Given the description of an element on the screen output the (x, y) to click on. 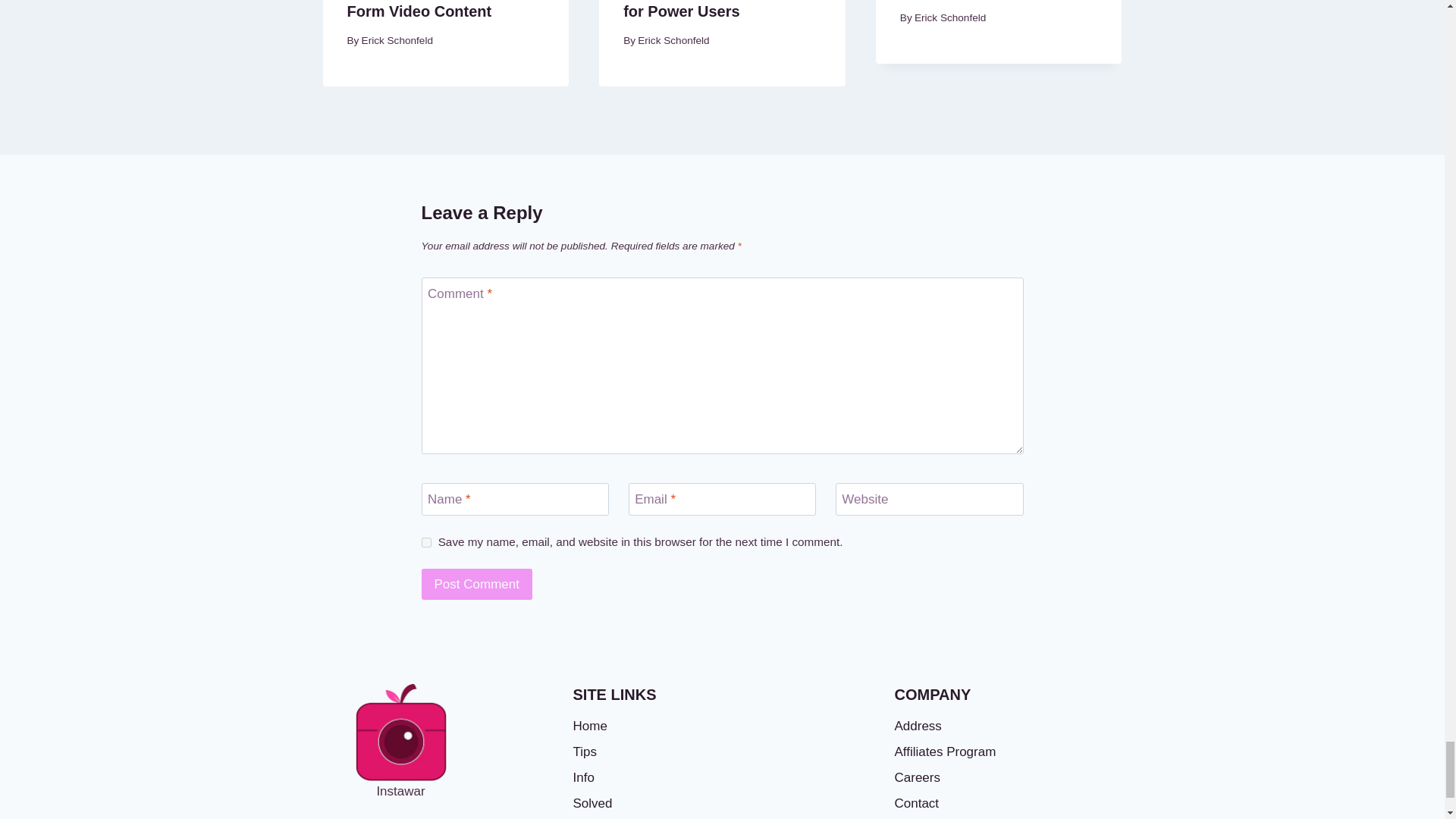
Erick Schonfeld (396, 40)
yes (426, 542)
Post Comment (477, 583)
Erick Schonfeld (673, 40)
